Given the description of an element on the screen output the (x, y) to click on. 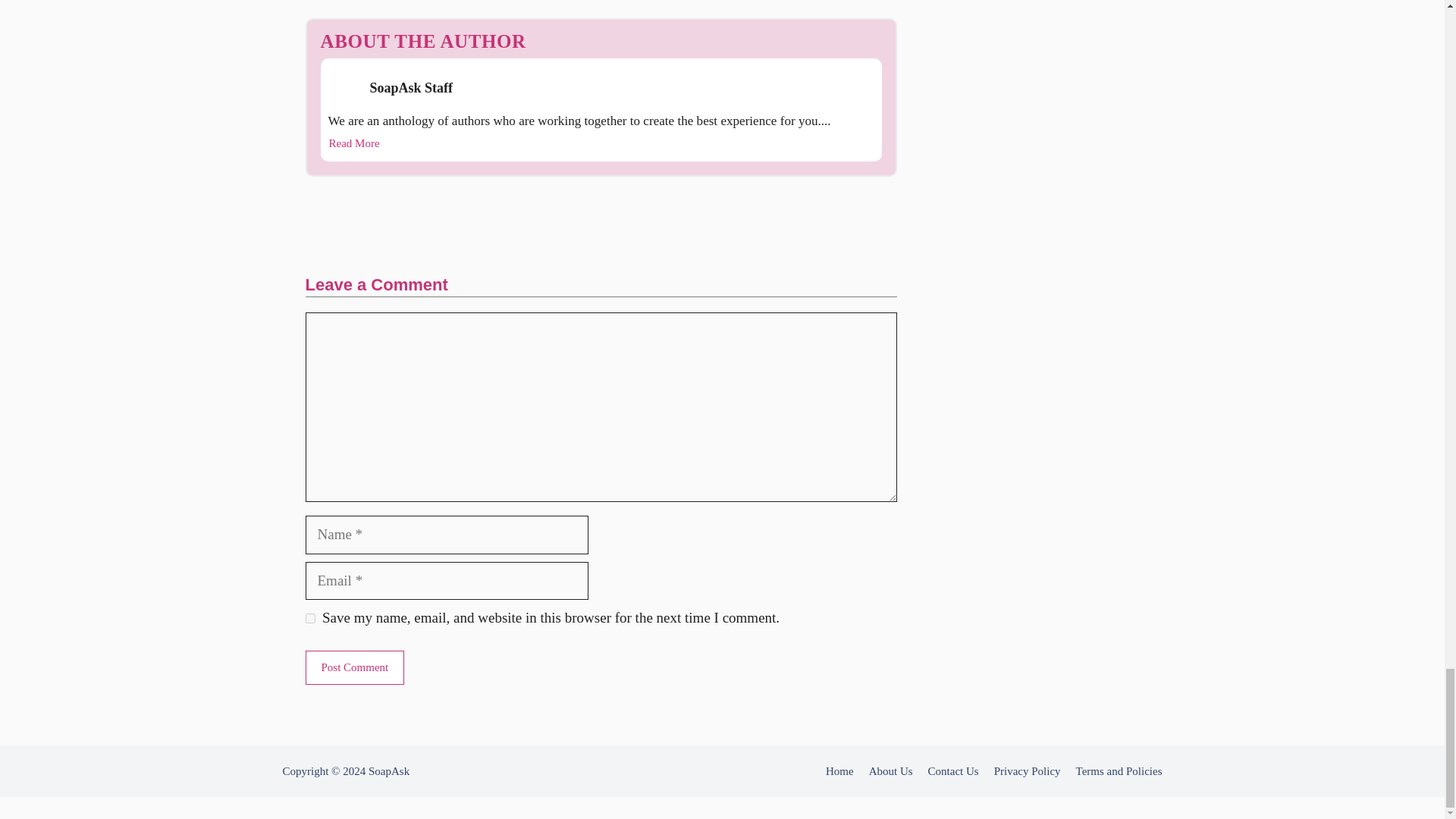
yes (309, 618)
Post Comment (354, 667)
